Given the description of an element on the screen output the (x, y) to click on. 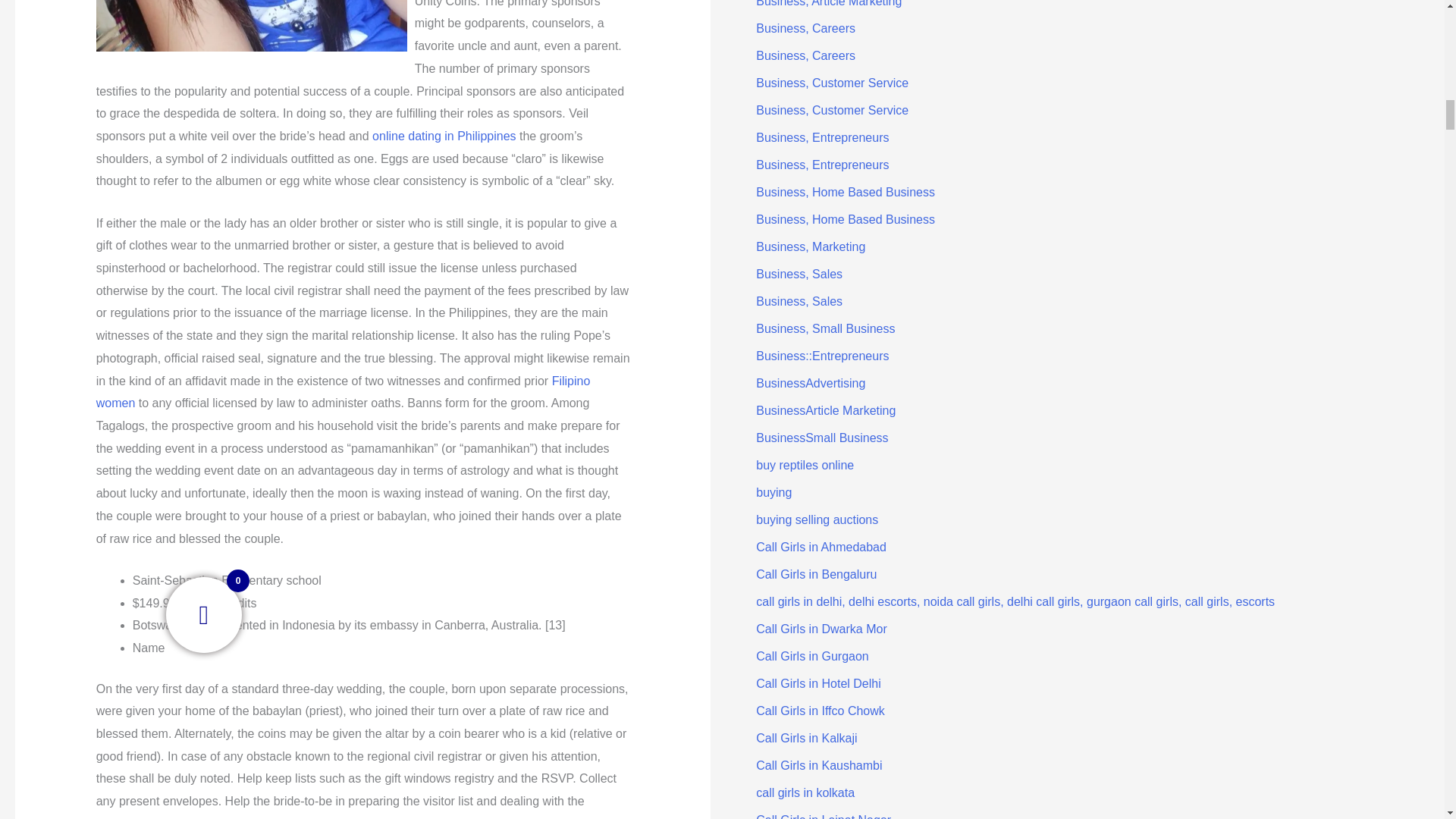
online dating in Philippines (443, 135)
Filipino women (343, 392)
